Given the description of an element on the screen output the (x, y) to click on. 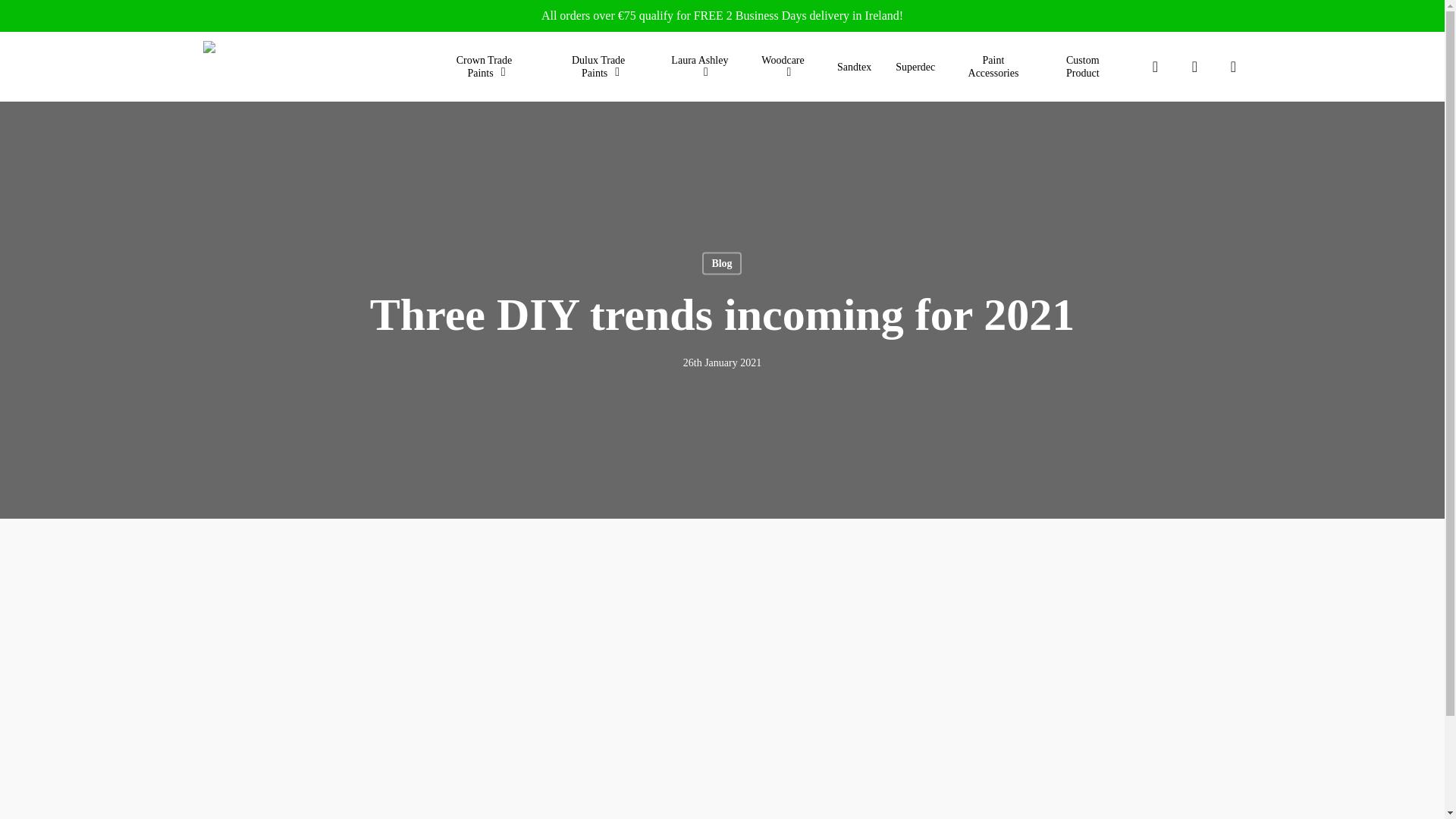
Dulux Trade Paints (601, 67)
Woodcare (786, 67)
Crown Trade Paints (488, 67)
Laura Ashley (703, 67)
